Given the description of an element on the screen output the (x, y) to click on. 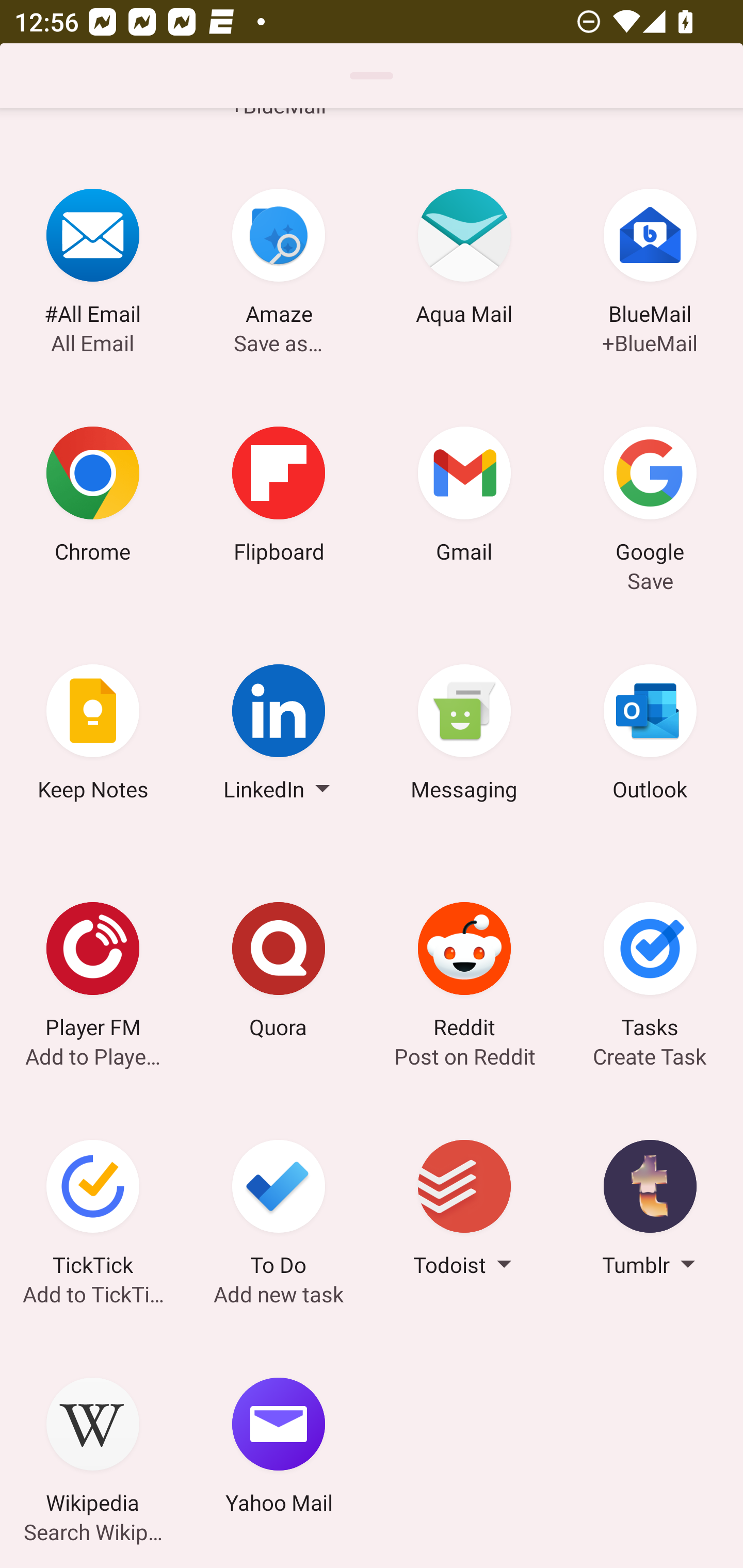
#All Email All Email (92, 260)
Amaze Save as… (278, 260)
Aqua Mail (464, 260)
BlueMail +BlueMail (650, 260)
Chrome (92, 497)
Flipboard (278, 497)
Gmail (464, 497)
Google Save (650, 497)
Keep Notes (92, 735)
LinkedIn (278, 735)
Messaging (464, 735)
Outlook (650, 735)
Player FM Add to Player FM (92, 973)
Quora (278, 973)
Reddit Post on Reddit (464, 973)
Tasks Create Task (650, 973)
TickTick Add to TickTick (92, 1210)
To Do Add new task (278, 1210)
Todoist (464, 1210)
Tumblr (650, 1210)
Wikipedia Search Wikipedia (92, 1448)
Yahoo Mail (278, 1448)
